Given the description of an element on the screen output the (x, y) to click on. 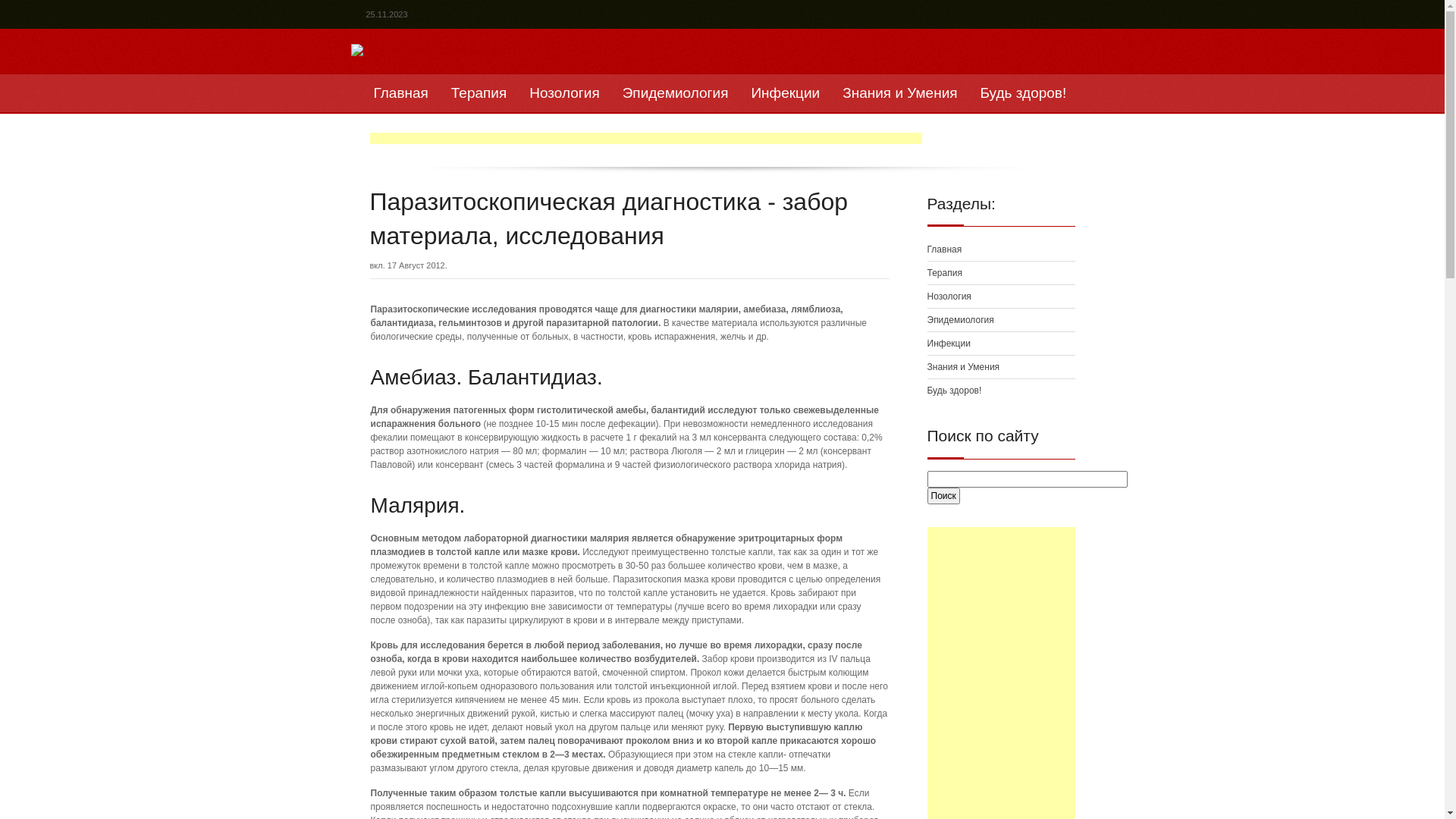
Advertisement Element type: hover (646, 138)
